Given the description of an element on the screen output the (x, y) to click on. 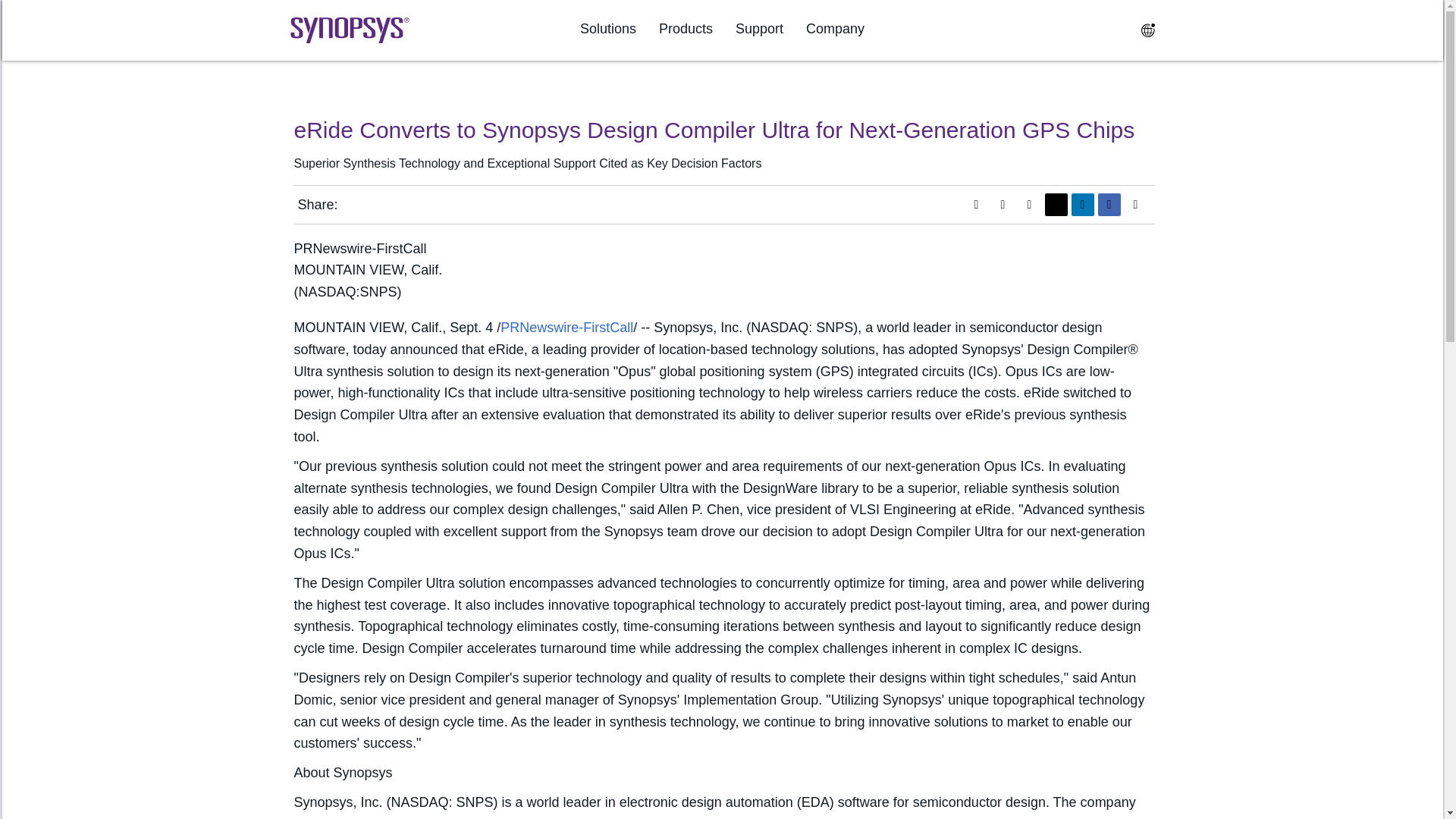
Products (686, 28)
Linkedin Share (1081, 204)
Support (759, 28)
print (1029, 204)
pdf (975, 204)
Twitter Share (1056, 204)
Company (835, 28)
Facebook Share (1109, 204)
email (1135, 204)
Solutions (607, 28)
rss (1002, 204)
